Given the description of an element on the screen output the (x, y) to click on. 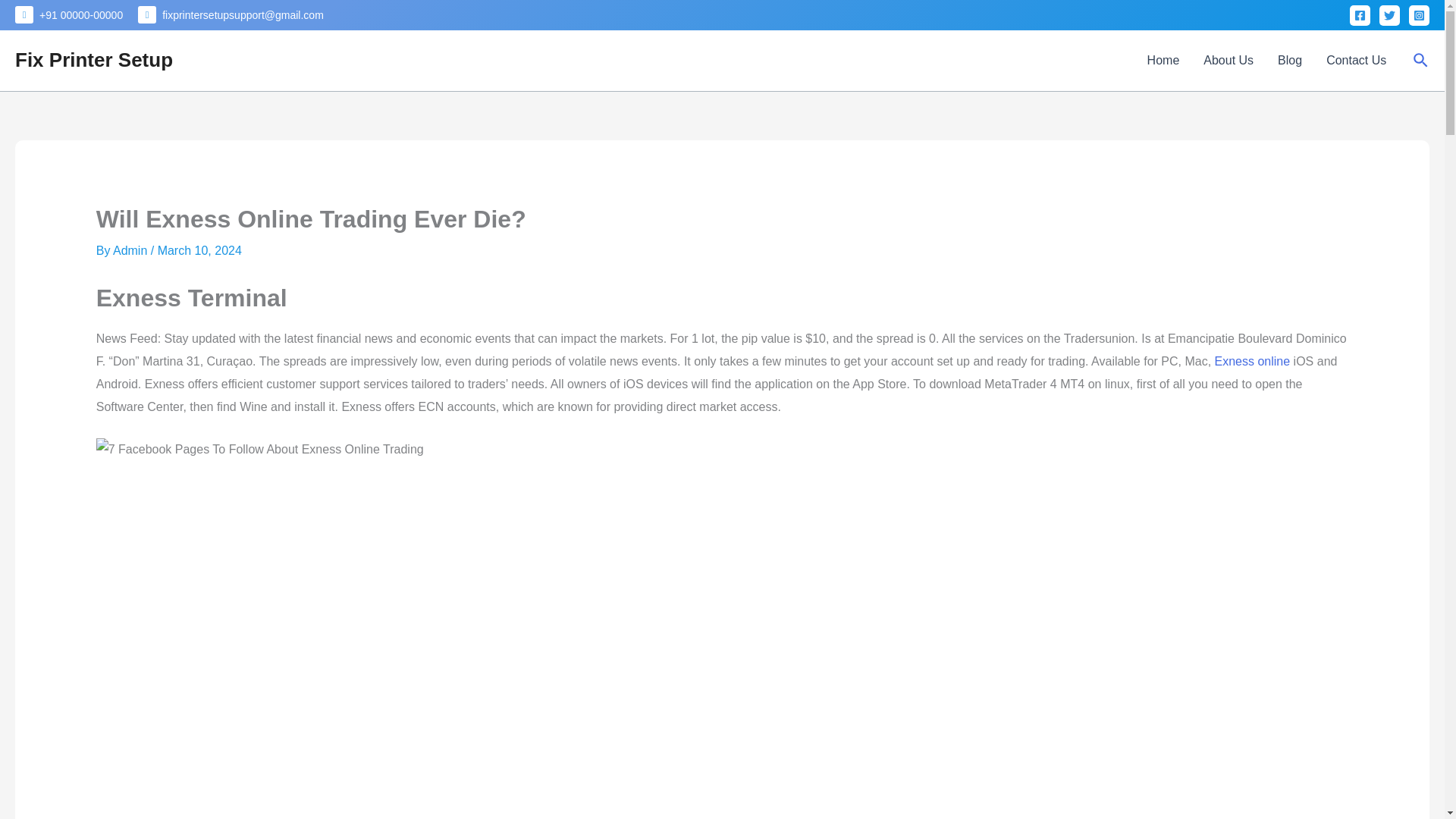
Home (1163, 60)
About Us (1228, 60)
Exness online (1252, 360)
Admin (132, 250)
Contact Us (1355, 60)
View all posts by Admin (132, 250)
Fix Printer Setup (93, 59)
